Given the description of an element on the screen output the (x, y) to click on. 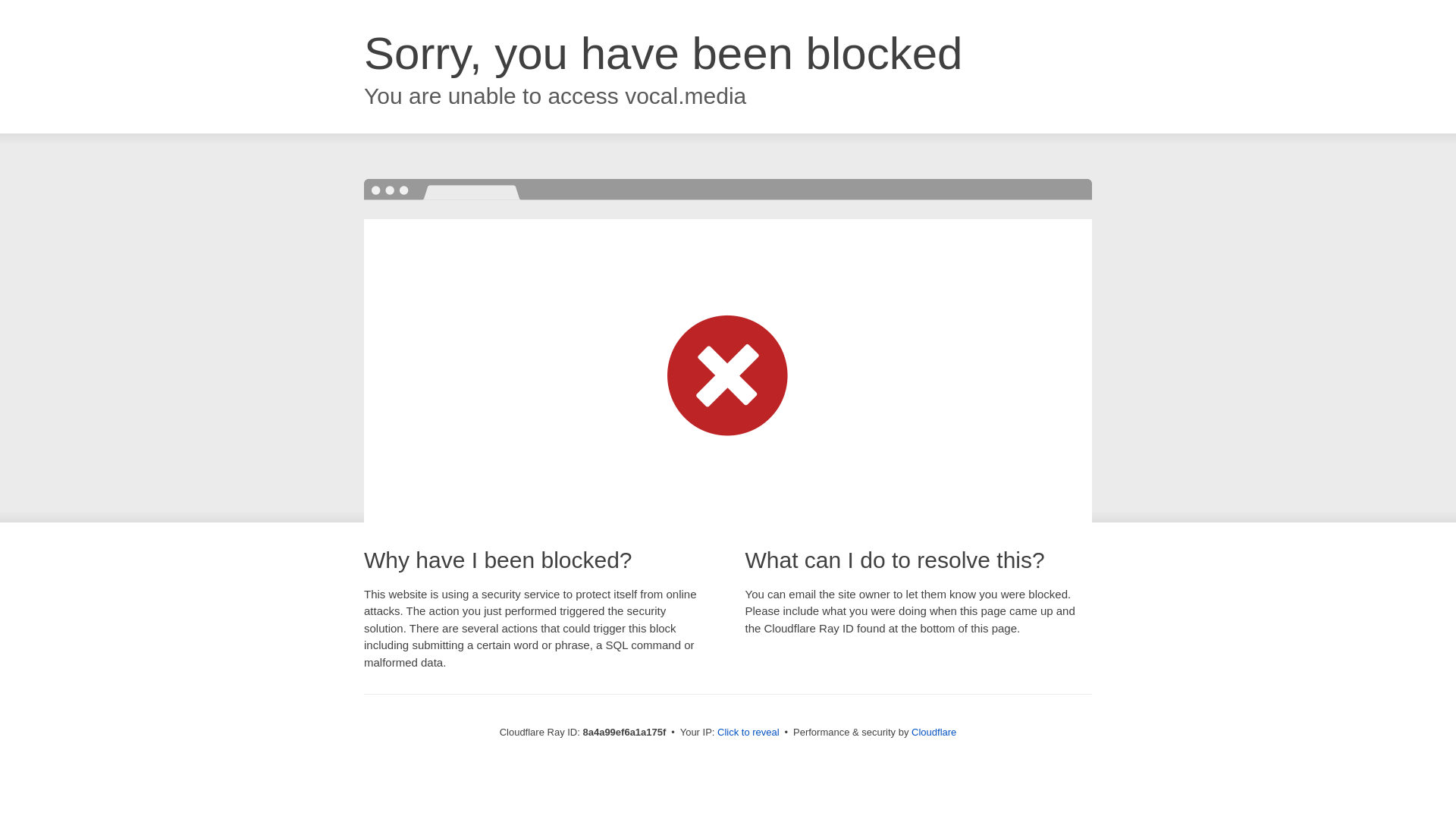
Click to reveal (747, 732)
Cloudflare (933, 731)
